Given the description of an element on the screen output the (x, y) to click on. 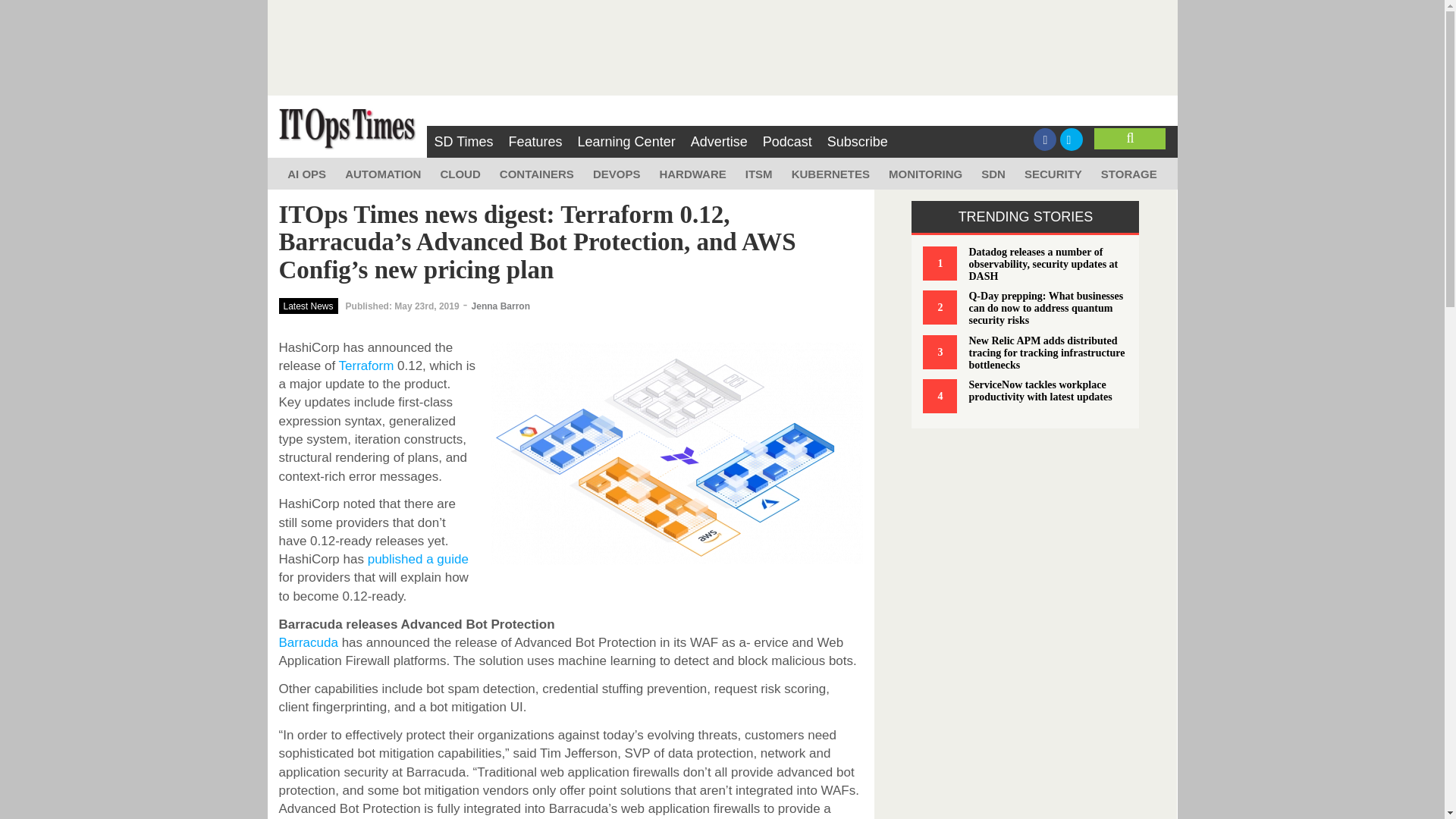
Advertise (718, 142)
SD Times (463, 142)
Subscribe (857, 142)
Podcast (787, 142)
Learning Center (626, 142)
Features (535, 142)
